Given the description of an element on the screen output the (x, y) to click on. 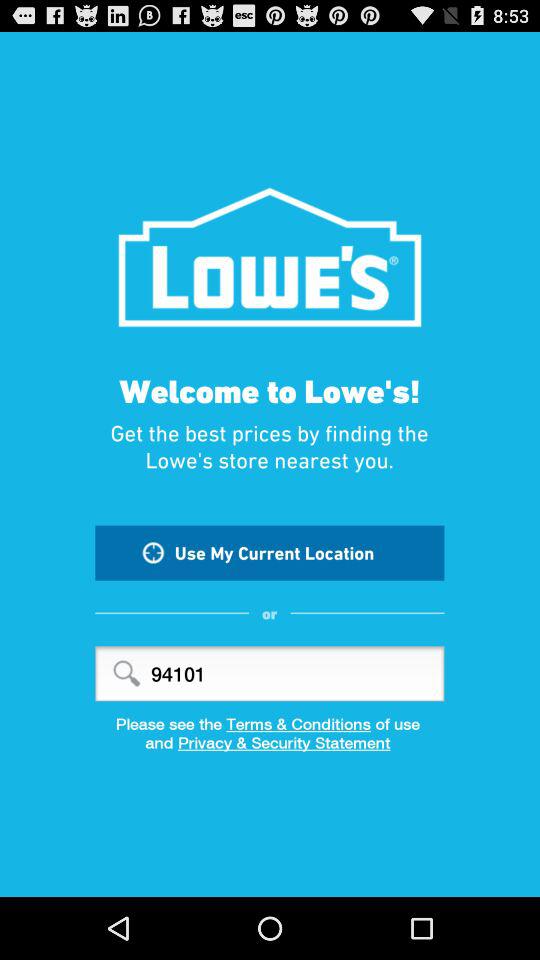
click item above the and privacy security (270, 723)
